Given the description of an element on the screen output the (x, y) to click on. 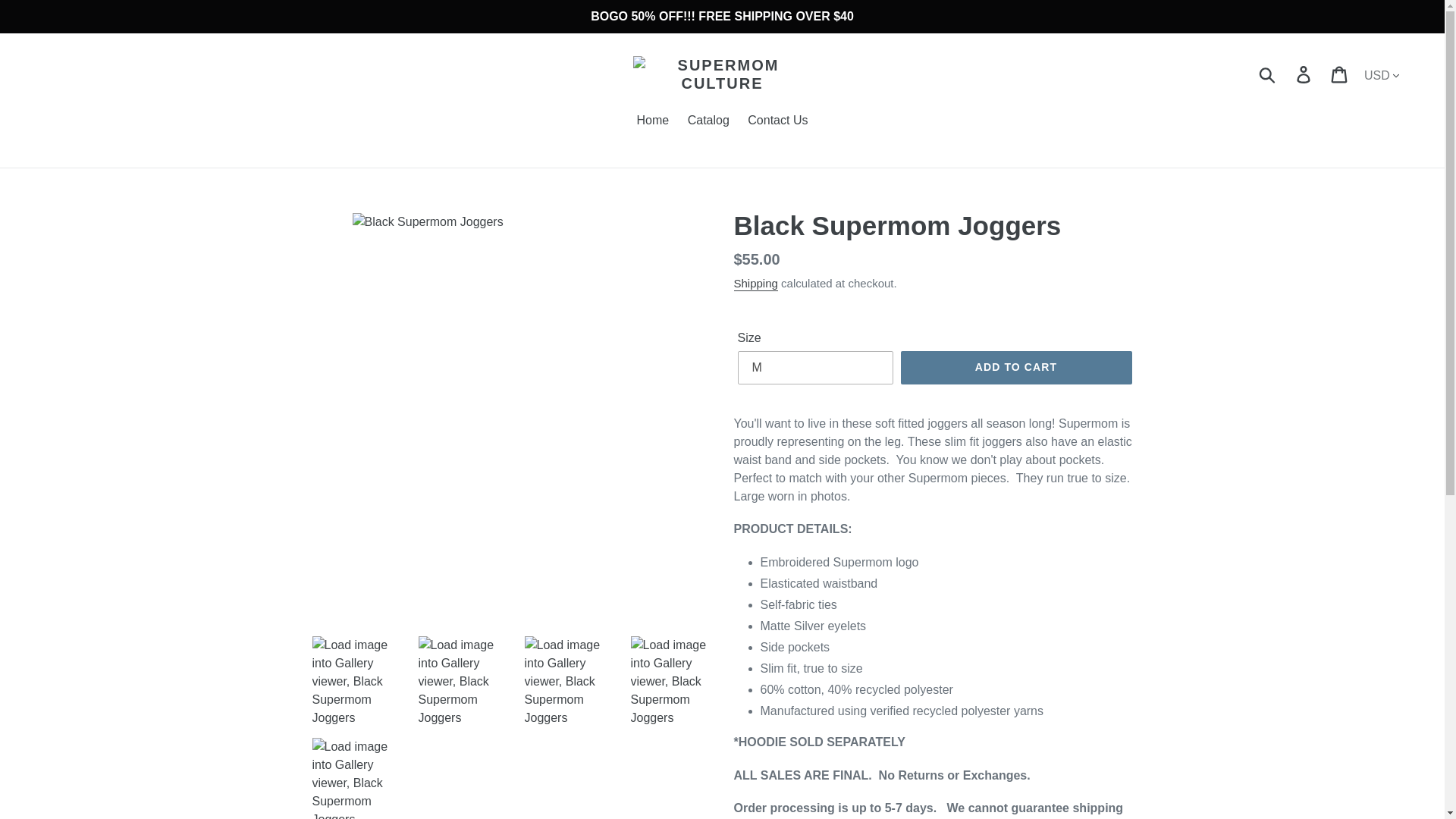
Contact Us (777, 121)
Submit (1268, 73)
Shipping (755, 283)
Log in (1304, 73)
ADD TO CART (1016, 367)
Home (652, 121)
Cart (1340, 73)
Catalog (707, 121)
